Given the description of an element on the screen output the (x, y) to click on. 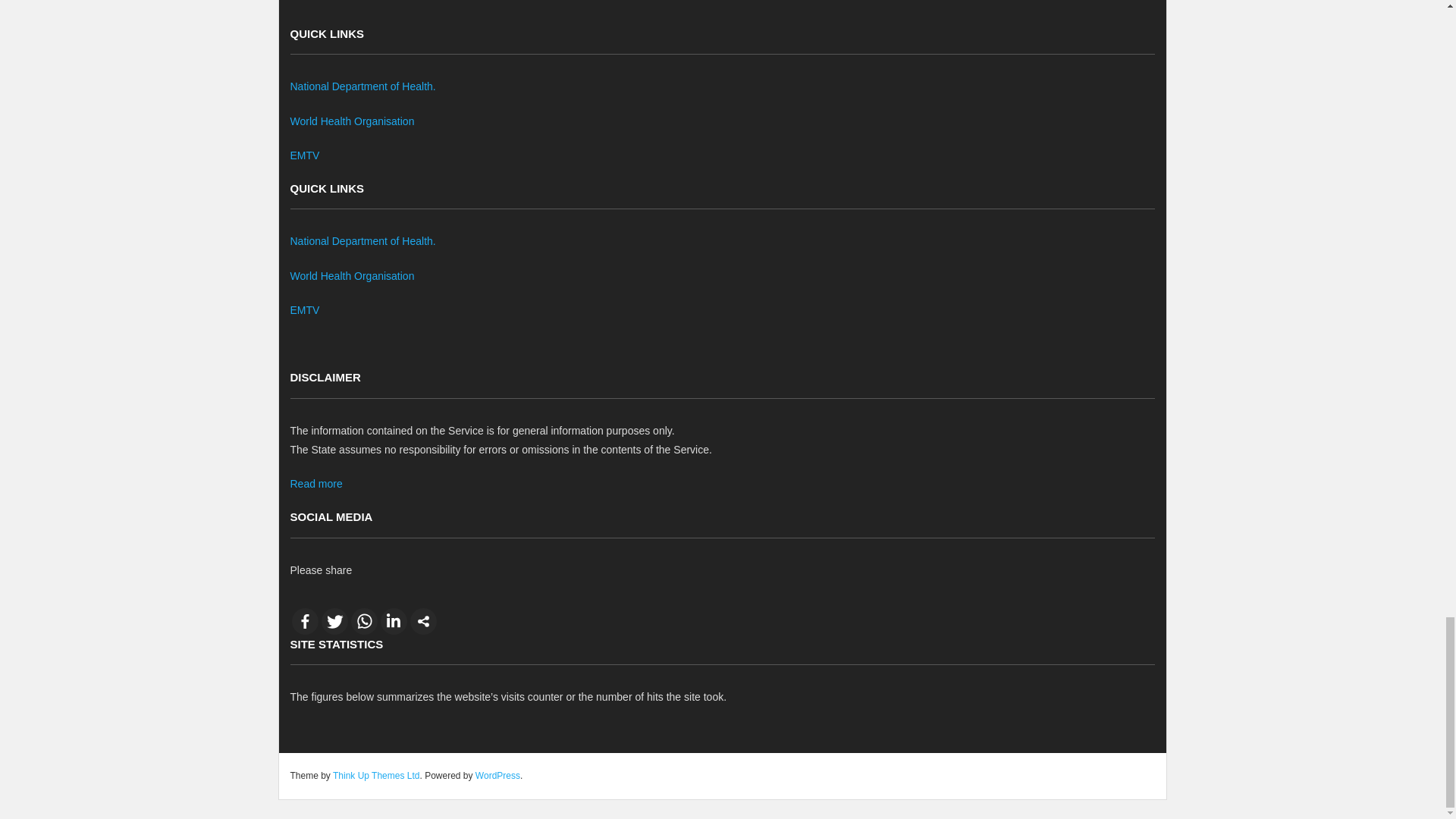
Linkedin (393, 621)
More (422, 621)
World Health Organisation (351, 275)
EMTV (303, 155)
National Department of Health. (362, 86)
National Department of Health. (362, 241)
Twitter (334, 621)
Facebook (304, 621)
Whatsapp (363, 621)
World Health Organisation (351, 121)
